Given the description of an element on the screen output the (x, y) to click on. 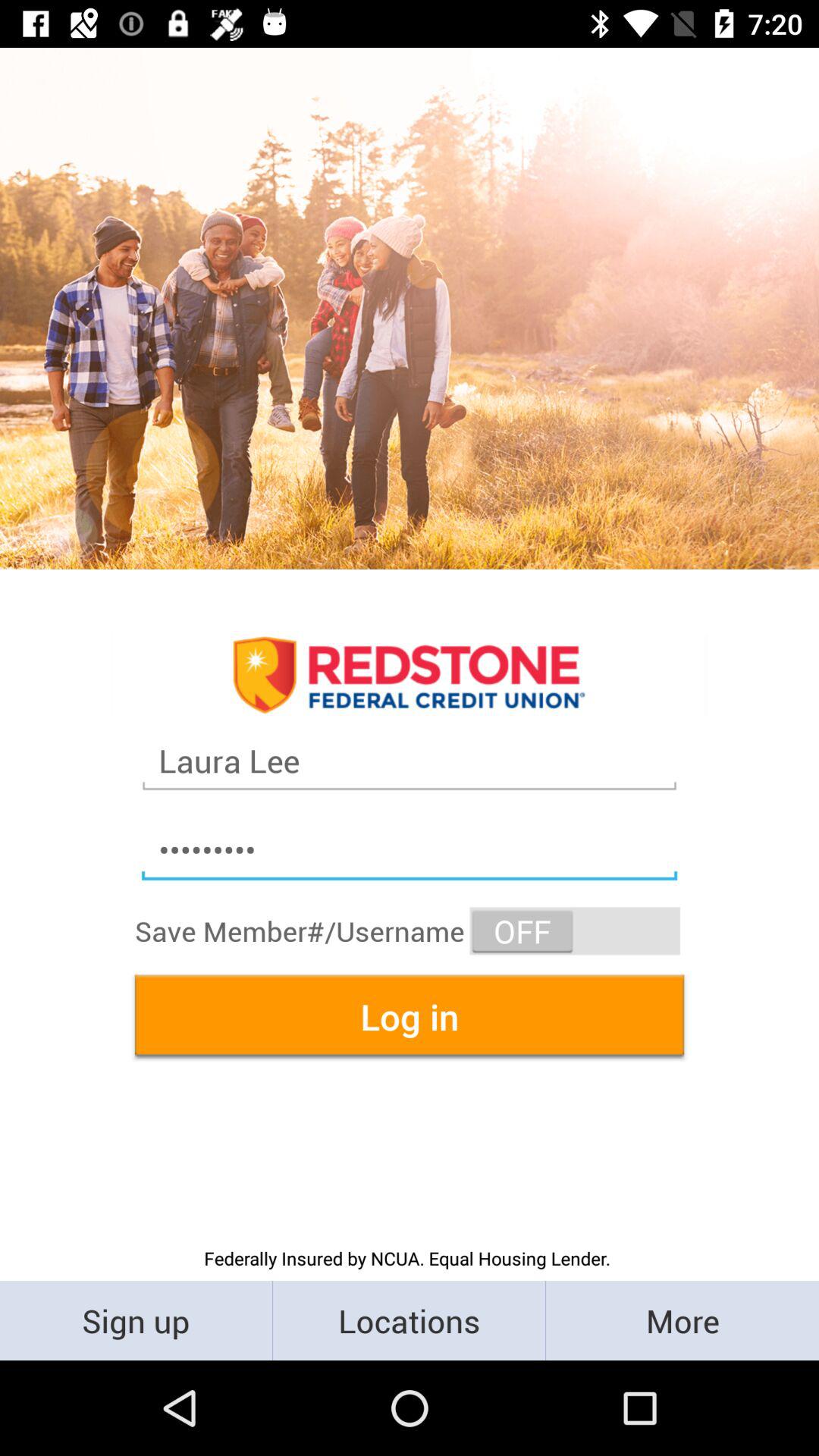
swipe to more icon (682, 1320)
